Given the description of an element on the screen output the (x, y) to click on. 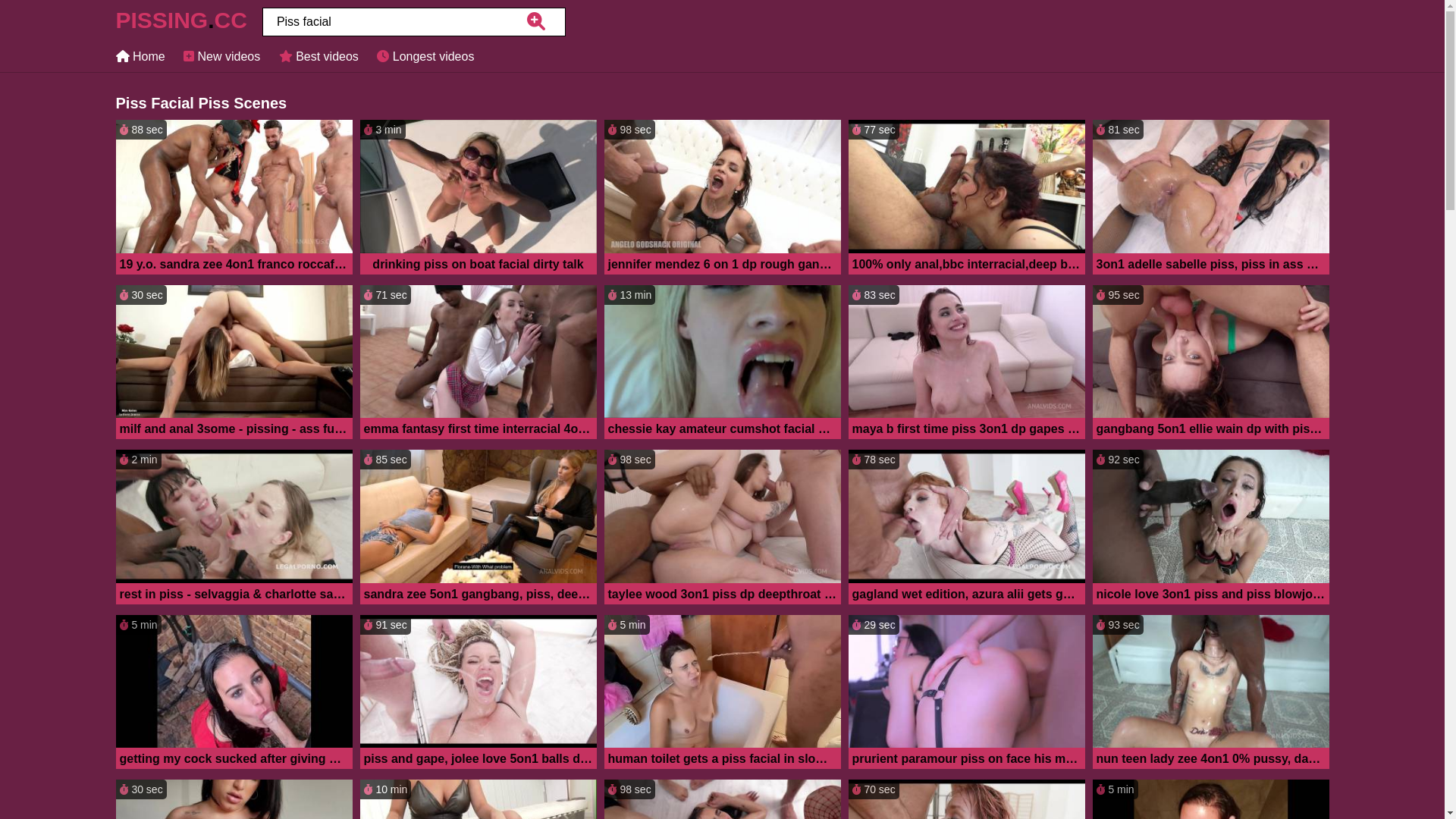
PISSING.CC Element type: text (180, 24)
New videos Element type: text (221, 56)
3 min
drinking piss on boat facial dirty talk Element type: text (477, 198)
5 min
human toilet gets a piss facial in slow motion Element type: text (721, 692)
Best videos Element type: text (318, 56)
Longest videos Element type: text (424, 56)
Home Element type: text (139, 56)
